Given the description of an element on the screen output the (x, y) to click on. 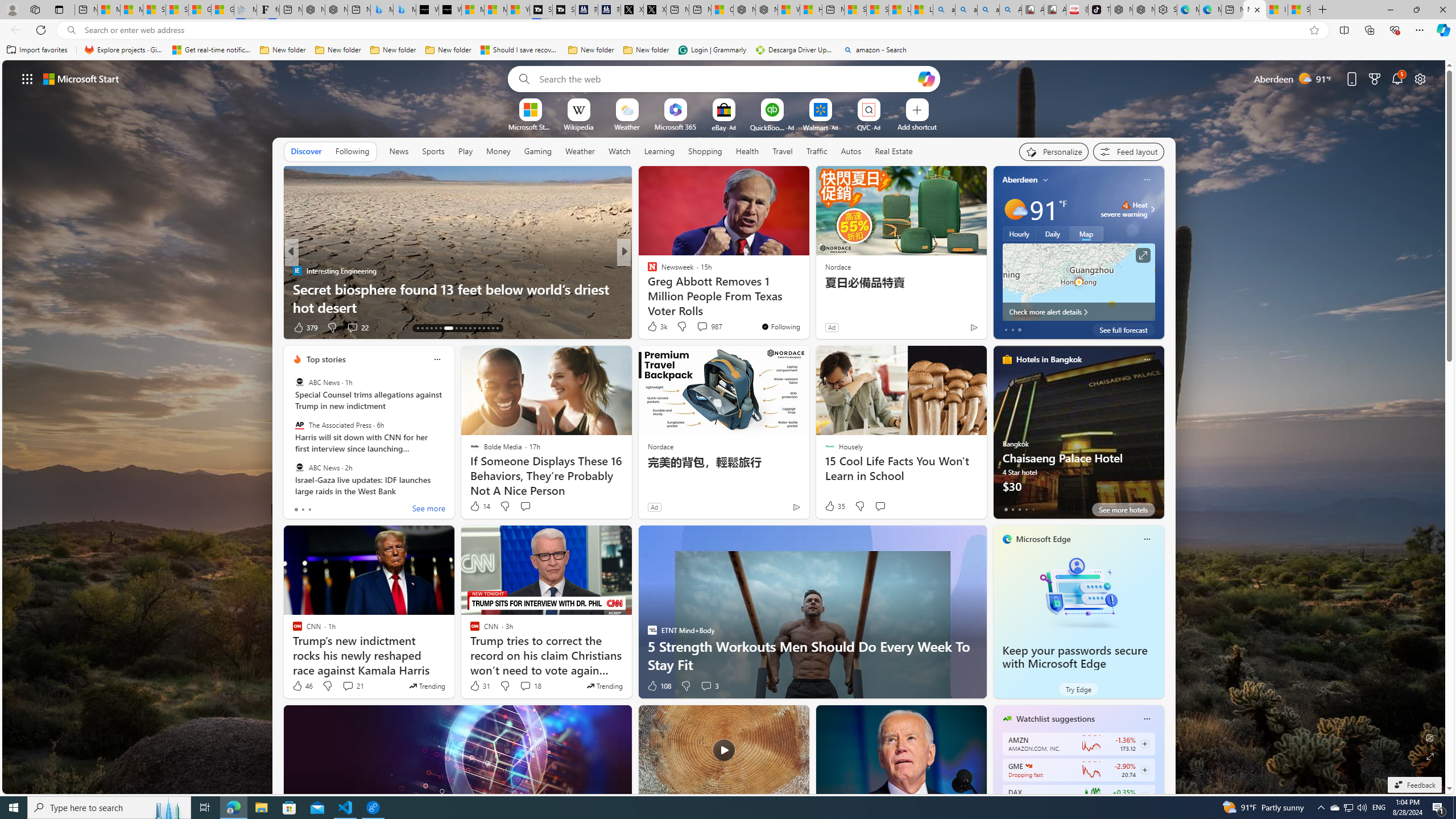
View comments 52 Comment (704, 327)
This story is trending (604, 685)
POLITICO (647, 270)
79 Like (652, 327)
View comments 85 Comment (704, 327)
Microsoft start (81, 78)
241 Like (654, 327)
View comments 85 Comment (698, 327)
Import favorites (36, 49)
AutomationID: tab-22 (465, 328)
